Given the description of an element on the screen output the (x, y) to click on. 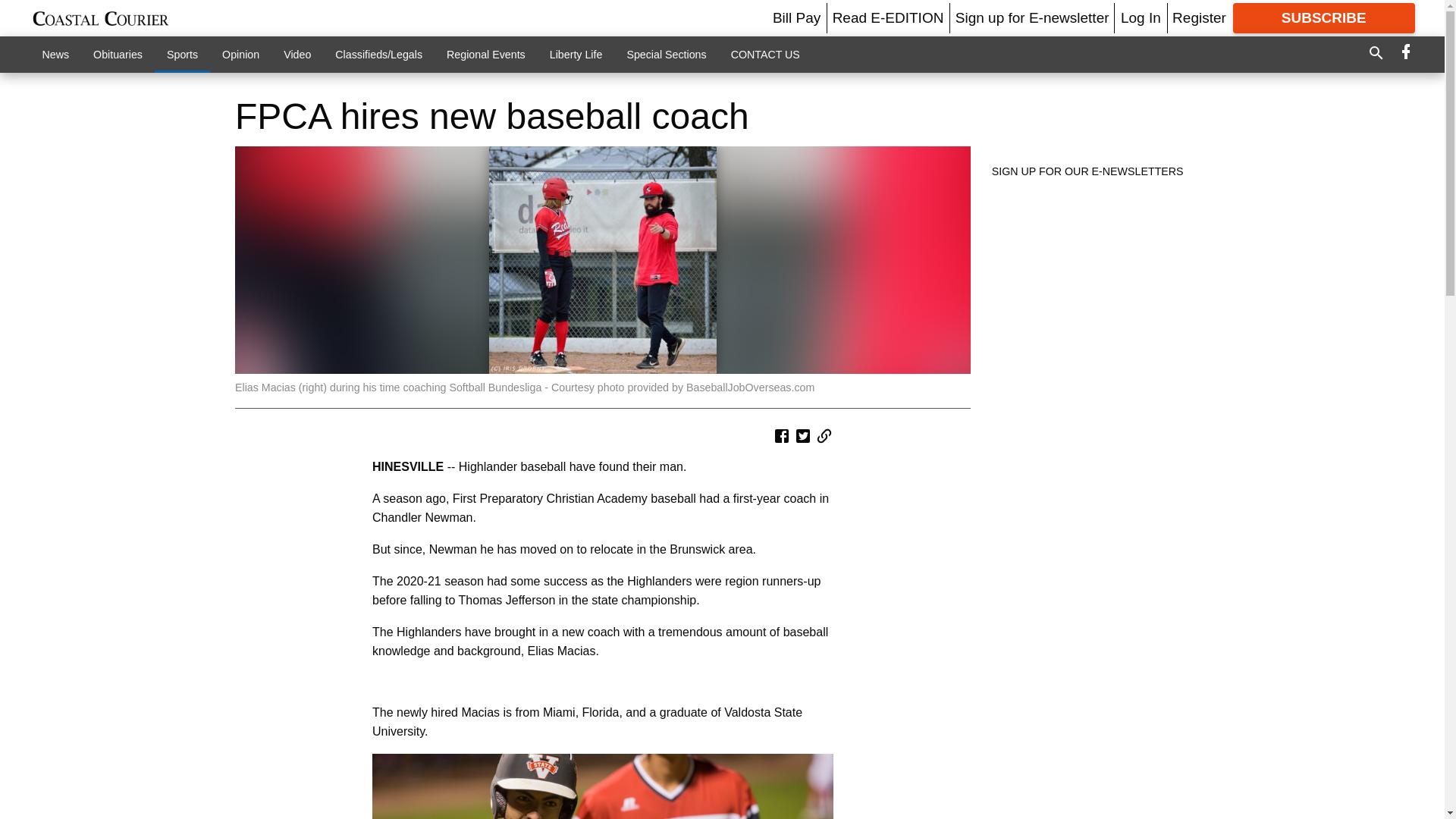
Bill Pay (797, 17)
Sign up for E-newsletter (1032, 17)
SUBSCRIBE (1324, 18)
Log In (1140, 17)
News (55, 54)
Sports (181, 54)
Obituaries (117, 54)
Read E-EDITION (887, 17)
CONTACT US (765, 54)
Special Sections (665, 54)
